Given the description of an element on the screen output the (x, y) to click on. 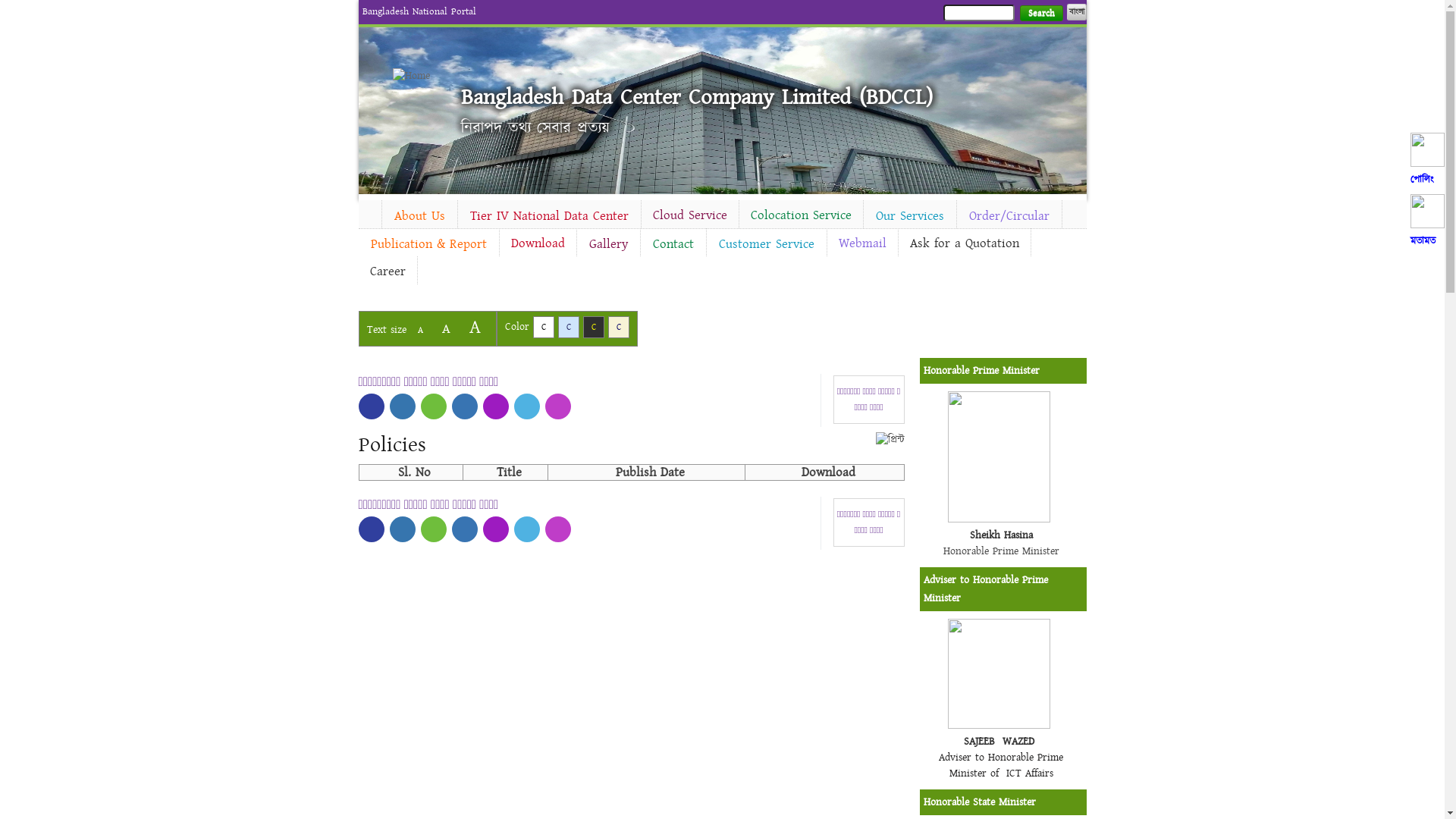
Order/Circular Element type: text (1009, 216)
Customer Service Element type: text (766, 244)
Contact Element type: text (672, 244)
A Element type: text (419, 330)
C Element type: text (542, 327)
C Element type: text (618, 327)
About Us Element type: text (419, 216)
Gallery Element type: text (607, 244)
Home Element type: hover (368, 211)
Ask for a Quotation Element type: text (963, 243)
Home Element type: hover (418, 76)
Our Services Element type: text (908, 216)
Career Element type: text (386, 271)
A Element type: text (474, 327)
Publication & Report Element type: text (427, 244)
Webmail Element type: text (861, 243)
C Element type: text (568, 327)
Colocation Service Element type: text (800, 215)
Bangladesh National Portal Element type: text (419, 11)
Download Element type: text (536, 243)
A Element type: text (445, 328)
Bangladesh Data Center Company Limited (BDCCL) Element type: text (696, 96)
Search Element type: text (1040, 13)
C Element type: text (592, 327)
Tier IV National Data Center Element type: text (549, 216)
Cloud Service Element type: text (689, 215)
